Given the description of an element on the screen output the (x, y) to click on. 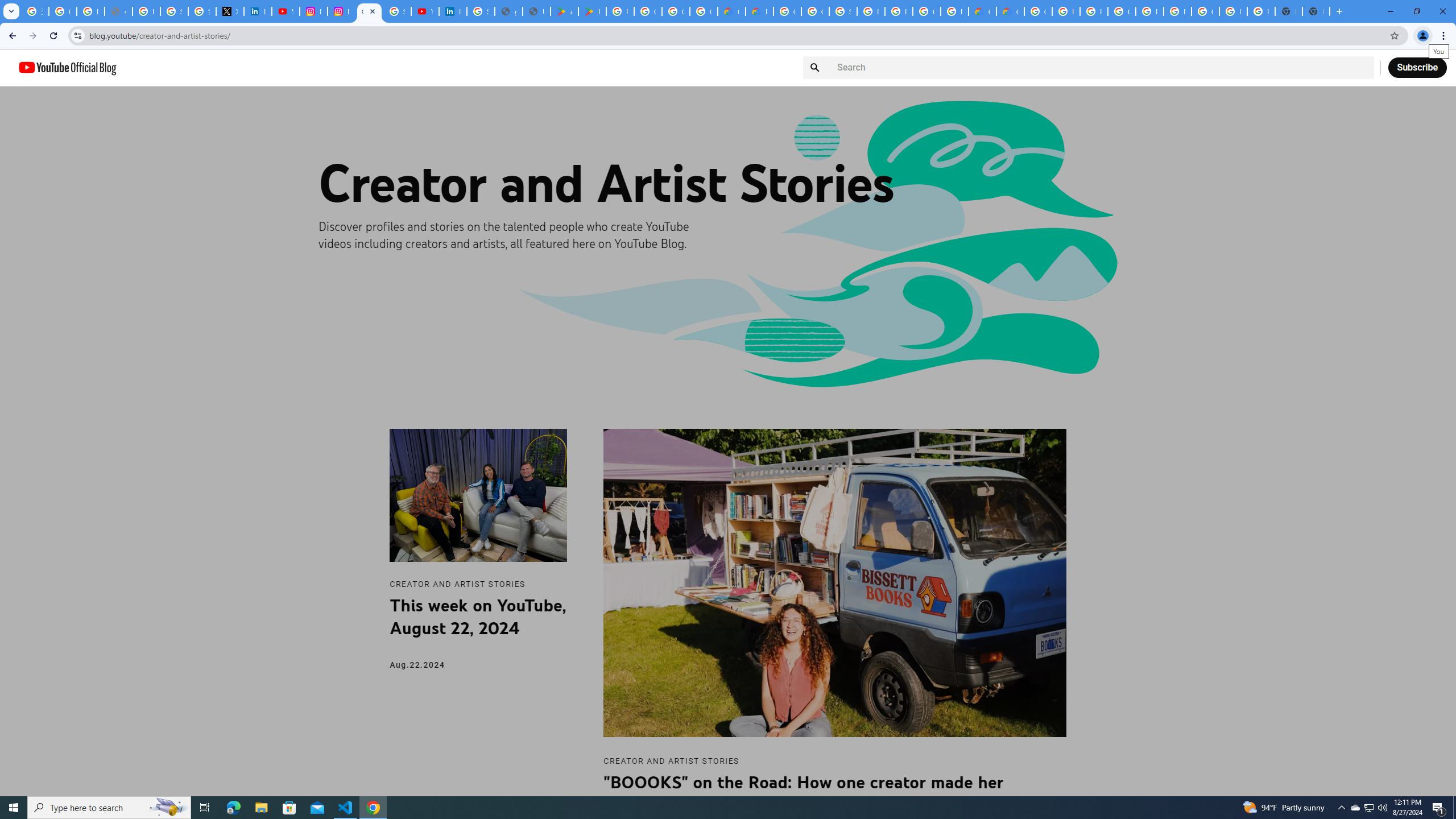
Subscribe (1417, 67)
YouTube Official Blog logo (67, 67)
Google Cloud Platform (1038, 11)
Google Cloud Platform (1121, 11)
LinkedIn Privacy Policy (257, 11)
X (229, 11)
